Given the description of an element on the screen output the (x, y) to click on. 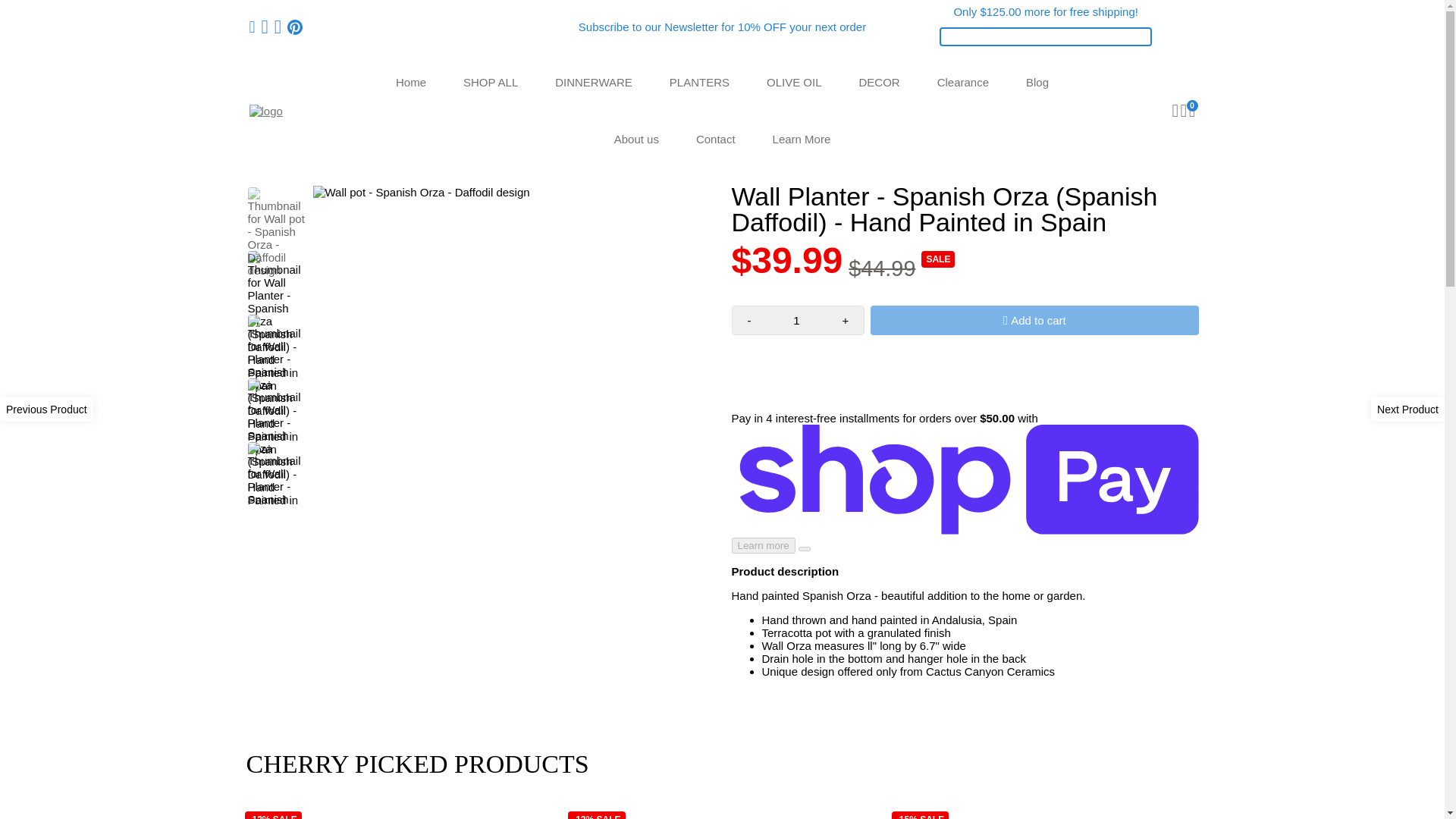
1 (796, 320)
Blog (1037, 82)
OLIVE OIL (794, 82)
SHOP ALL (490, 82)
PLANTERS (698, 82)
DINNERWARE (593, 82)
Contact (716, 138)
Learn More (801, 138)
Home (410, 82)
Clearance (962, 82)
